Given the description of an element on the screen output the (x, y) to click on. 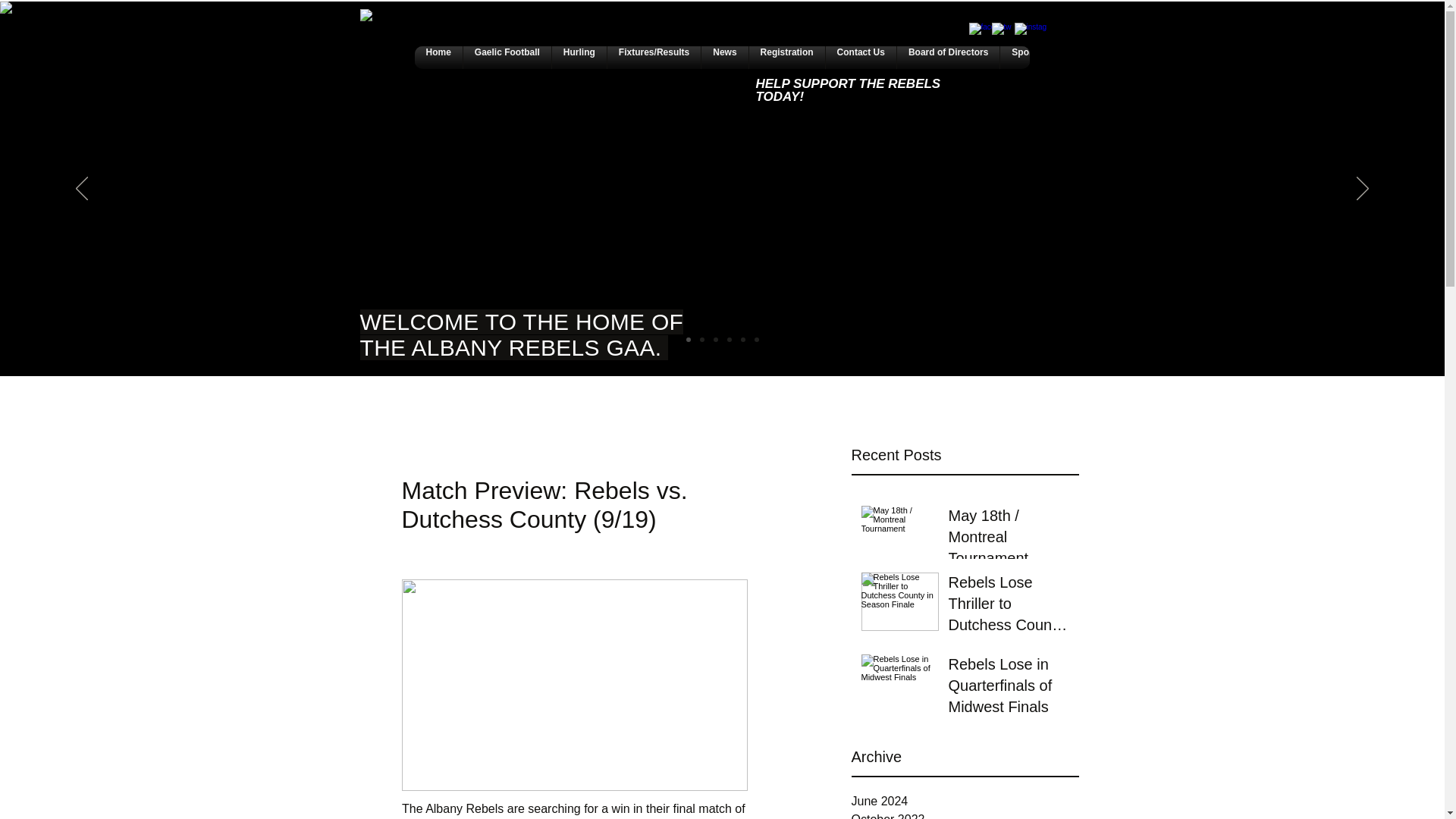
Gaelic Football (507, 56)
Rebels Lose Thriller to Dutchess County in Season Finale (1007, 606)
Hurling (579, 56)
October 2022 (964, 814)
Sponsors (1032, 56)
Rebels Lose in Quarterfinals of Midwest Finals (1007, 688)
Board of Directors (948, 56)
Home (438, 56)
June 2024 (964, 801)
Registration (786, 56)
News (724, 56)
Contact Us (860, 56)
